Given the description of an element on the screen output the (x, y) to click on. 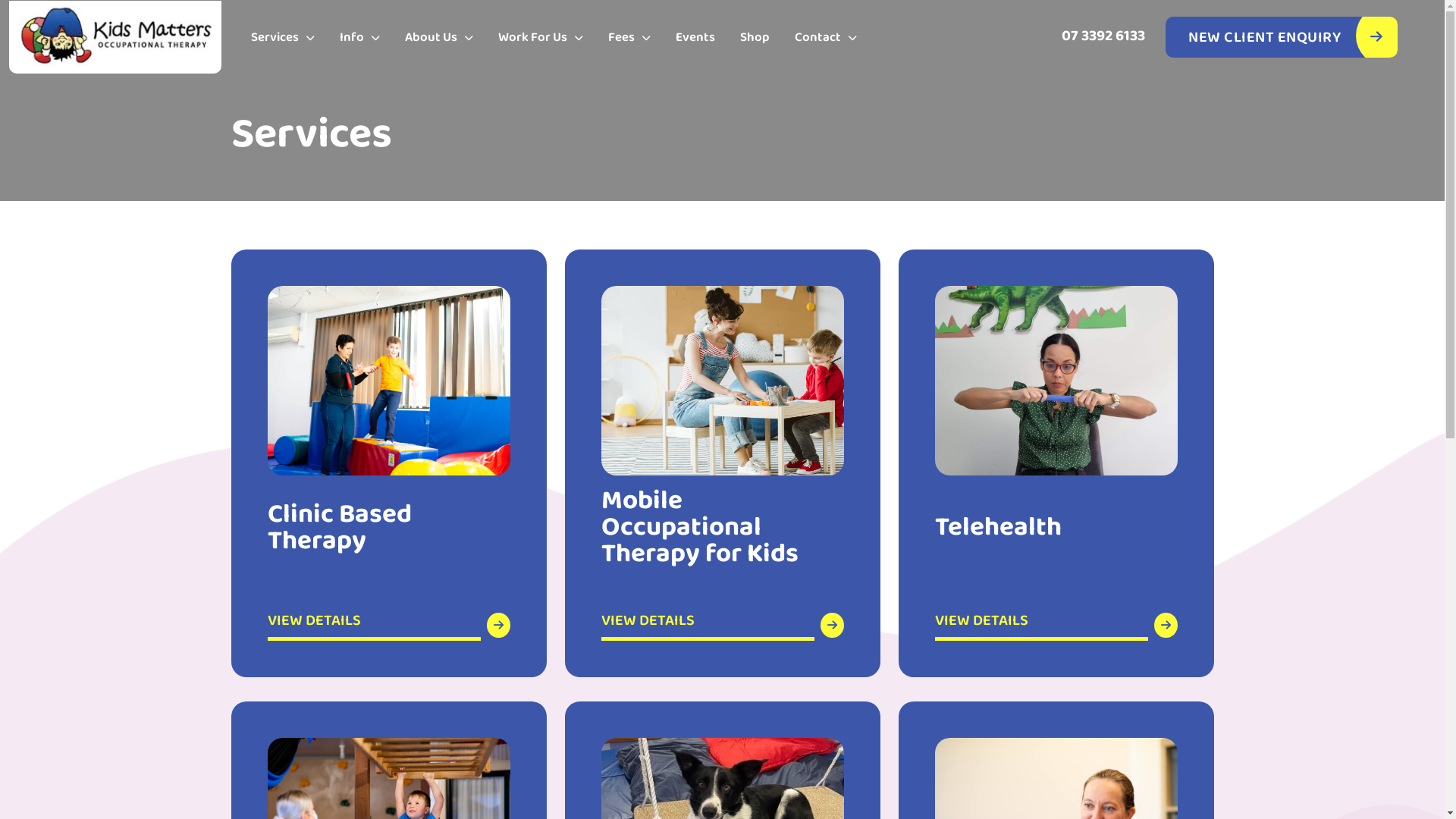
Services Element type: text (282, 37)
Clinic Based Therapy
VIEW DETAILS Element type: text (388, 463)
Work For Us Element type: text (540, 37)
07 3392 6133 Element type: text (1103, 35)
Telehealth
VIEW DETAILS Element type: text (1055, 463)
NEW CLIENT ENQUIRY Element type: text (1281, 36)
Fees Element type: text (629, 37)
Contact Element type: text (825, 37)
Info Element type: text (359, 37)
About Us Element type: text (438, 37)
Mobile Occupational Therapy for Kids
VIEW DETAILS Element type: text (721, 463)
Shop Element type: text (754, 37)
Events Element type: text (695, 37)
